Given the description of an element on the screen output the (x, y) to click on. 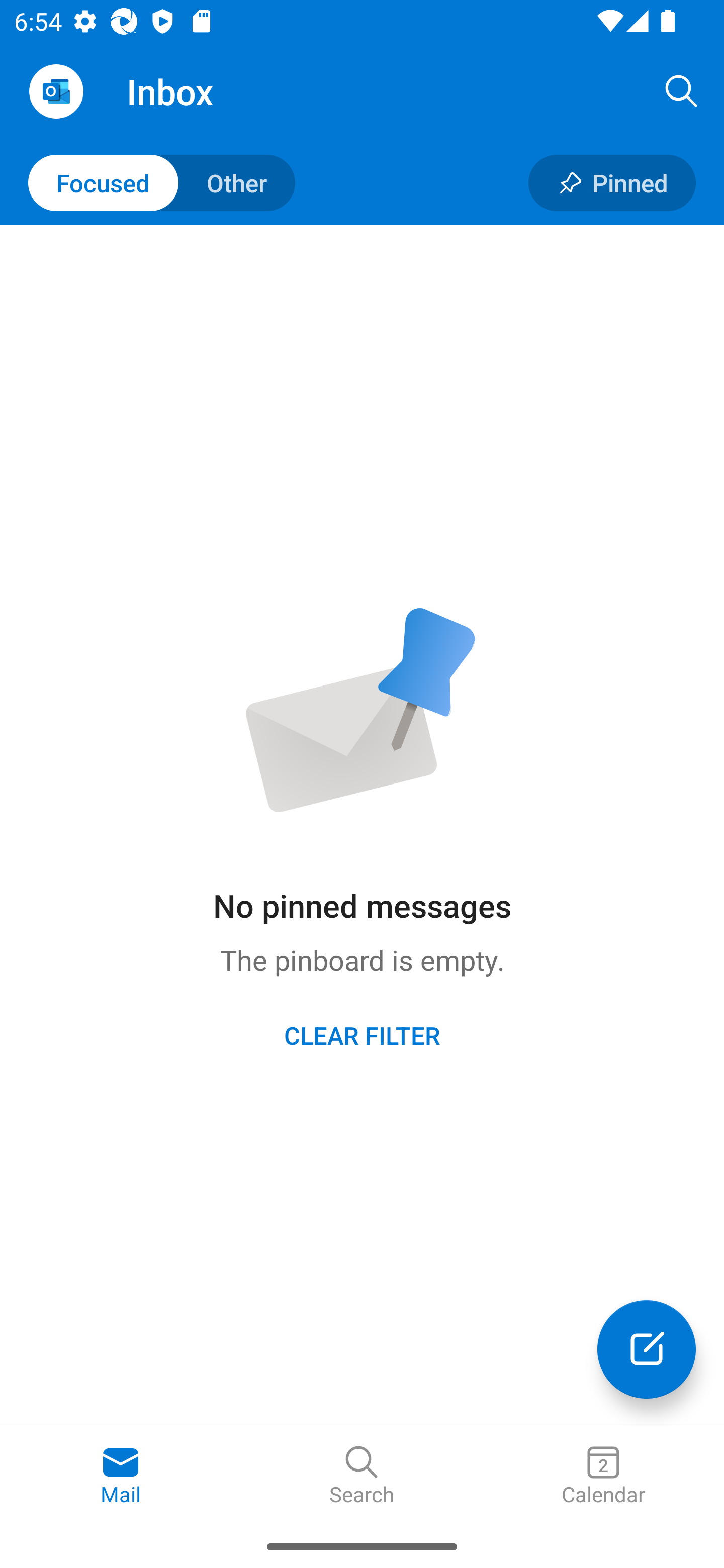
Search (681, 90)
Open Navigation Drawer (55, 91)
Toggle to other mails (161, 183)
CLEAR FILTER (361, 1034)
Compose (646, 1348)
Search (361, 1475)
Calendar (603, 1475)
